Given the description of an element on the screen output the (x, y) to click on. 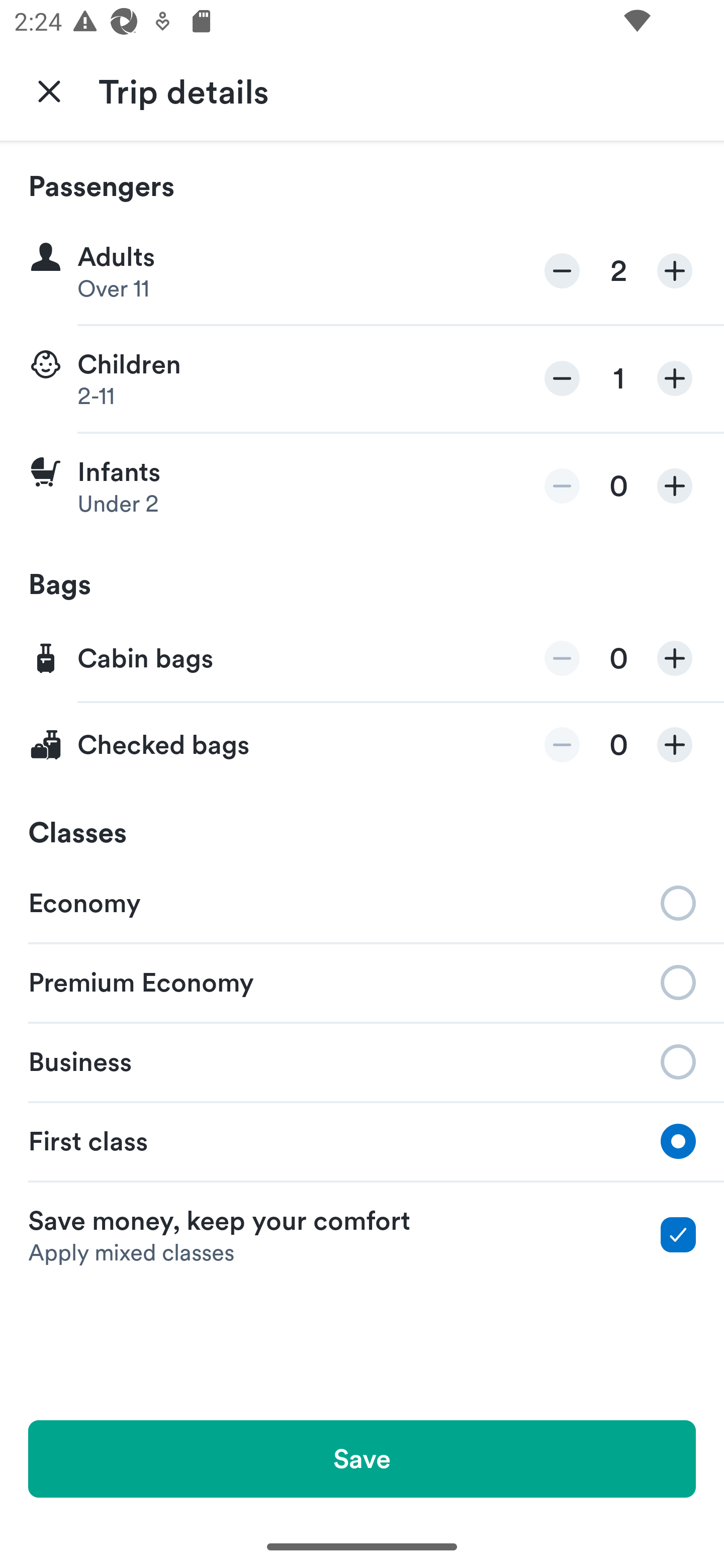
Navigate up (49, 90)
Remove 2 Add Adults Over 11 (362, 271)
Remove (561, 270)
Add (674, 270)
Remove 1 Add Children 2-11 (362, 379)
Remove (561, 377)
Add (674, 377)
Remove 0 Add Infants Under 2 (362, 485)
Remove (561, 485)
Add (674, 485)
Remove 0 Add Cabin bags (362, 659)
Remove (561, 658)
Add (674, 658)
Remove 0 Add Checked bags (362, 744)
Remove (561, 744)
Add (674, 744)
Economy (362, 901)
Premium Economy (362, 980)
Business (362, 1060)
Save (361, 1458)
